Given the description of an element on the screen output the (x, y) to click on. 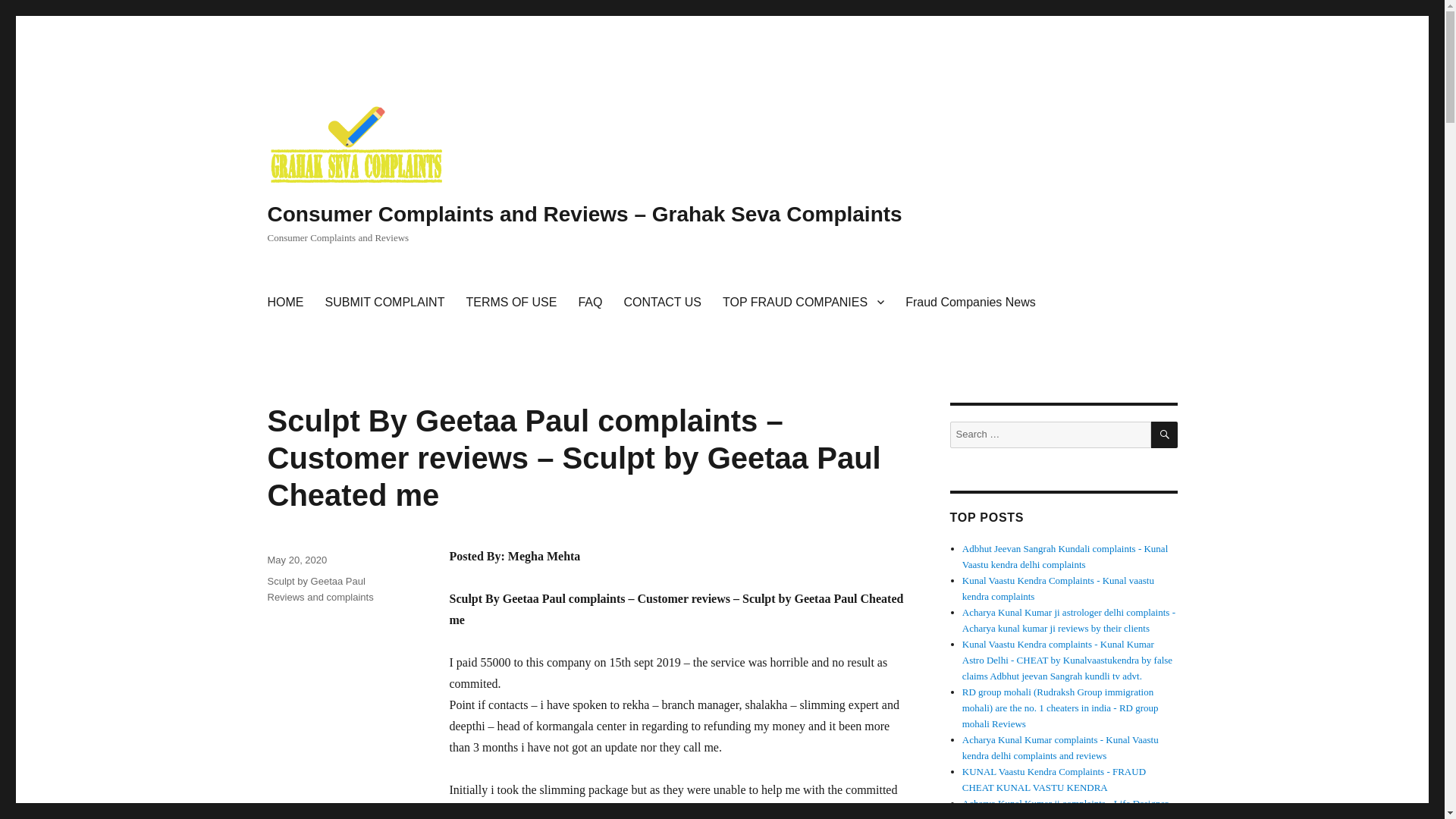
May 20, 2020 (296, 559)
Fraud Companies News (970, 301)
CONTACT US (661, 301)
Sculpt by Geetaa Paul Reviews and complaints (319, 588)
SUBMIT COMPLAINT (384, 301)
TERMS OF USE (510, 301)
FAQ (589, 301)
TOP FRAUD COMPANIES (803, 301)
HOME (285, 301)
